Given the description of an element on the screen output the (x, y) to click on. 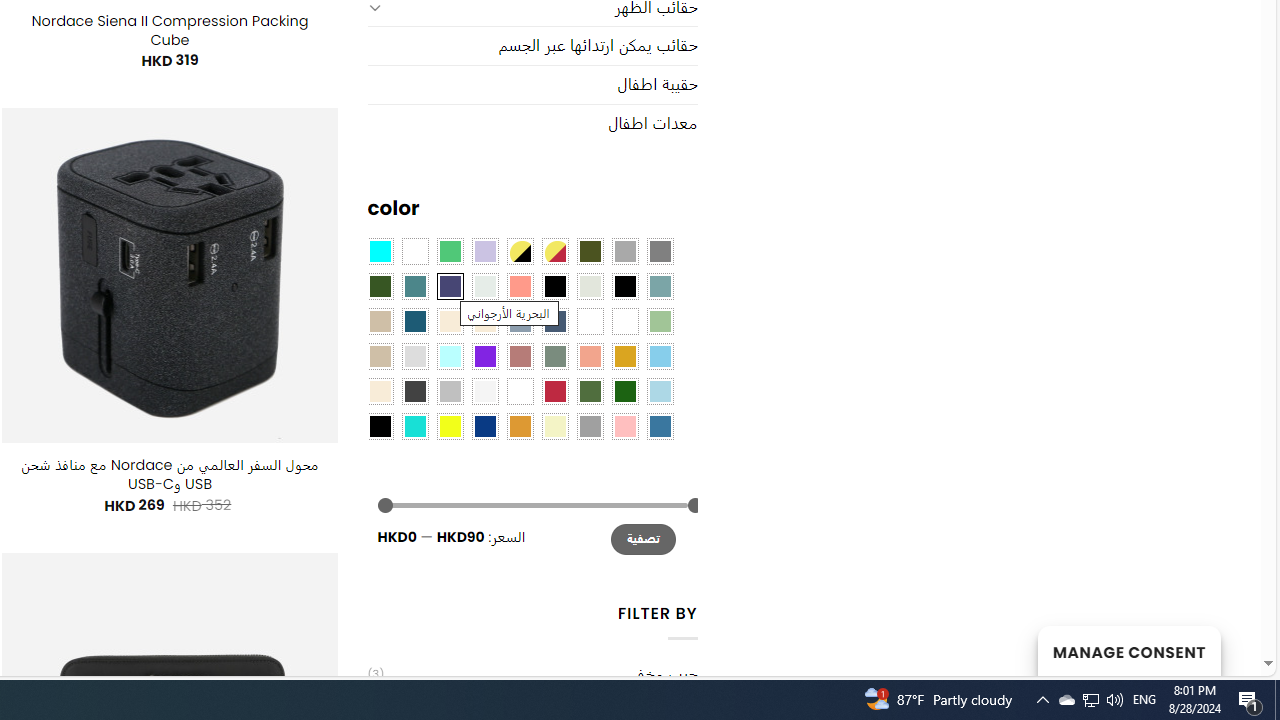
Clear (414, 251)
All Black (554, 285)
Blue Sage (659, 285)
Capri Blue (414, 321)
Nordace Siena II Compression Packing Cube (169, 29)
Caramel (449, 321)
Yellow-Black (519, 251)
Black-Brown (624, 285)
